Given the description of an element on the screen output the (x, y) to click on. 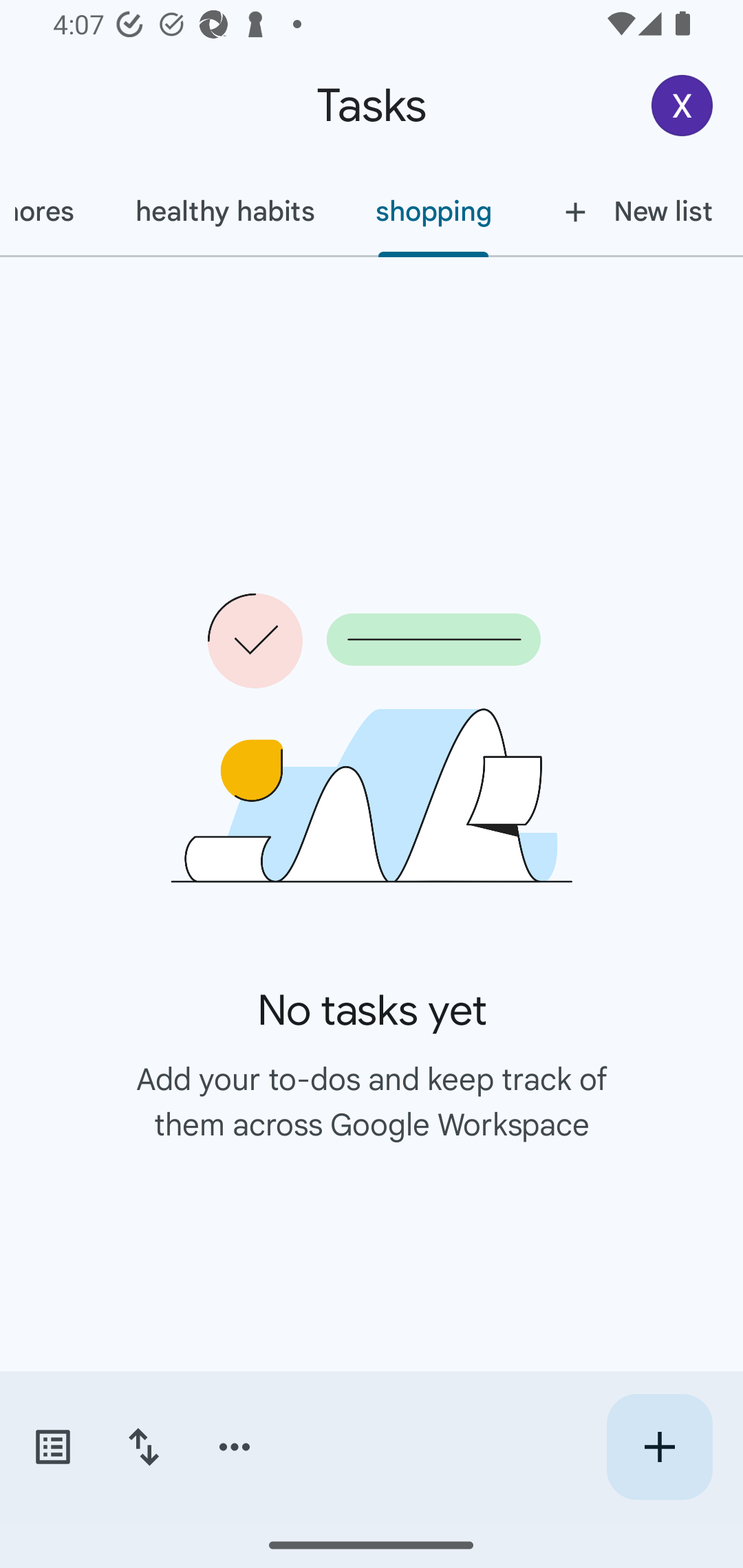
household chores (52, 211)
healthy habits (224, 211)
New list (632, 211)
Switch task lists (52, 1447)
Create new task (659, 1446)
Change sort order (143, 1446)
More options (234, 1446)
